Given the description of an element on the screen output the (x, y) to click on. 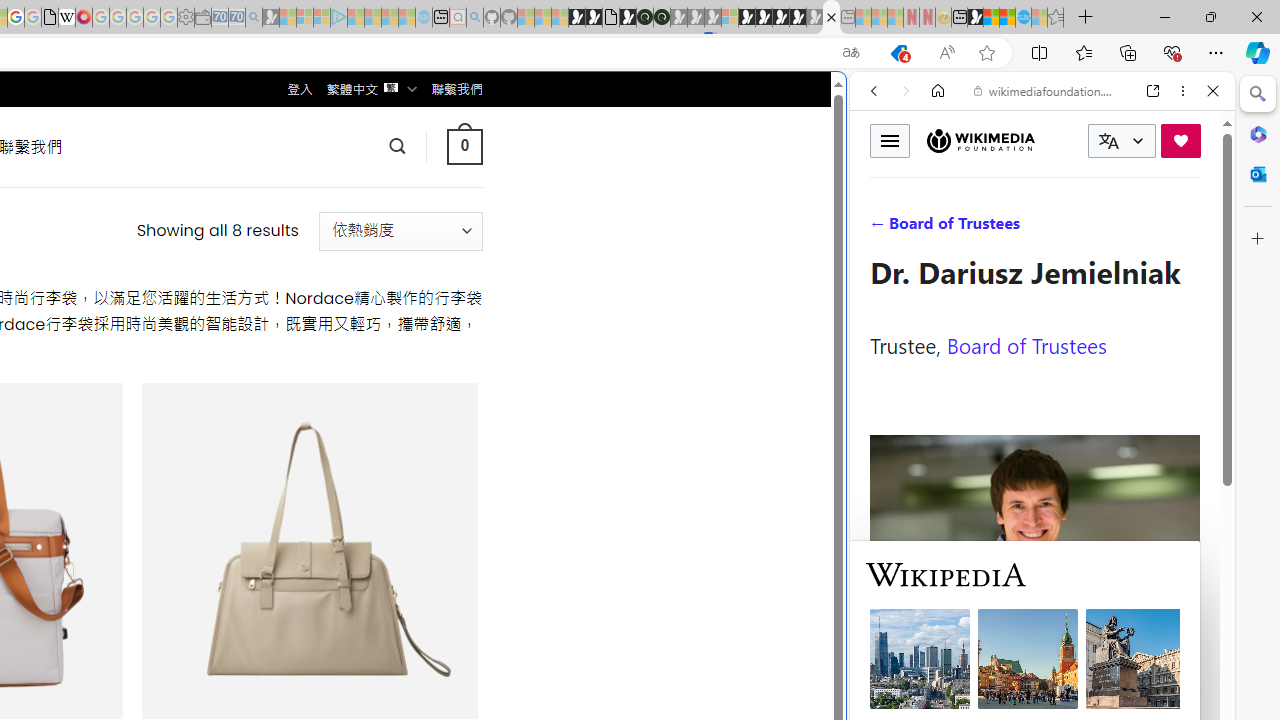
Settings - Sleeping (185, 17)
Search Filter, IMAGES (939, 228)
